Given the description of an element on the screen output the (x, y) to click on. 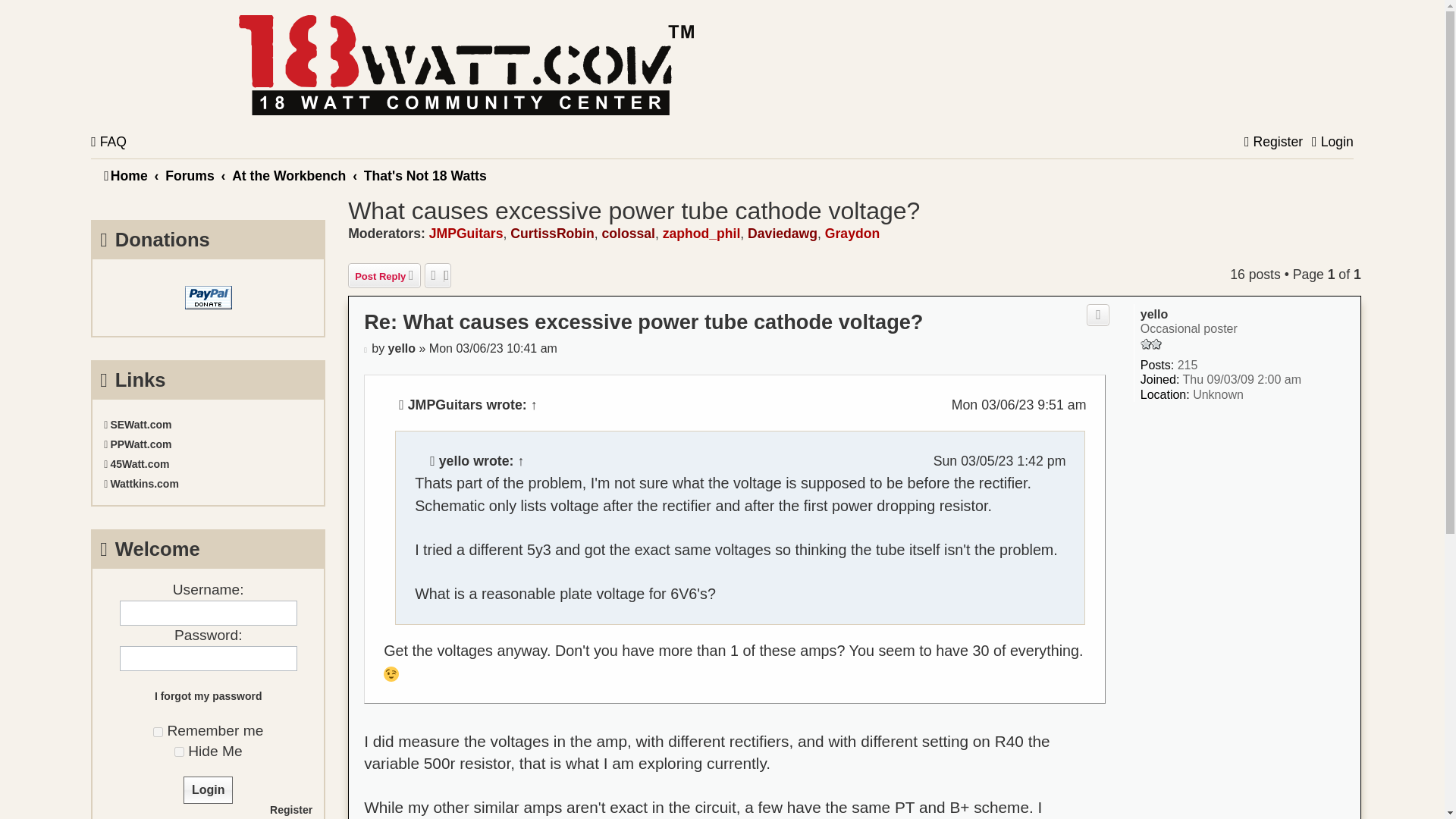
I forgot my password (208, 696)
Frequently Asked Questions (108, 142)
Daviedawg (782, 233)
PPWatt.com (208, 444)
CurtissRobin (552, 233)
Post (366, 348)
Forums (189, 175)
Forums (189, 175)
Home (466, 65)
At the Workbench (288, 175)
Quote (1097, 314)
Login (1332, 142)
on (157, 732)
on (179, 751)
Wattkins.com (208, 483)
